Given the description of an element on the screen output the (x, y) to click on. 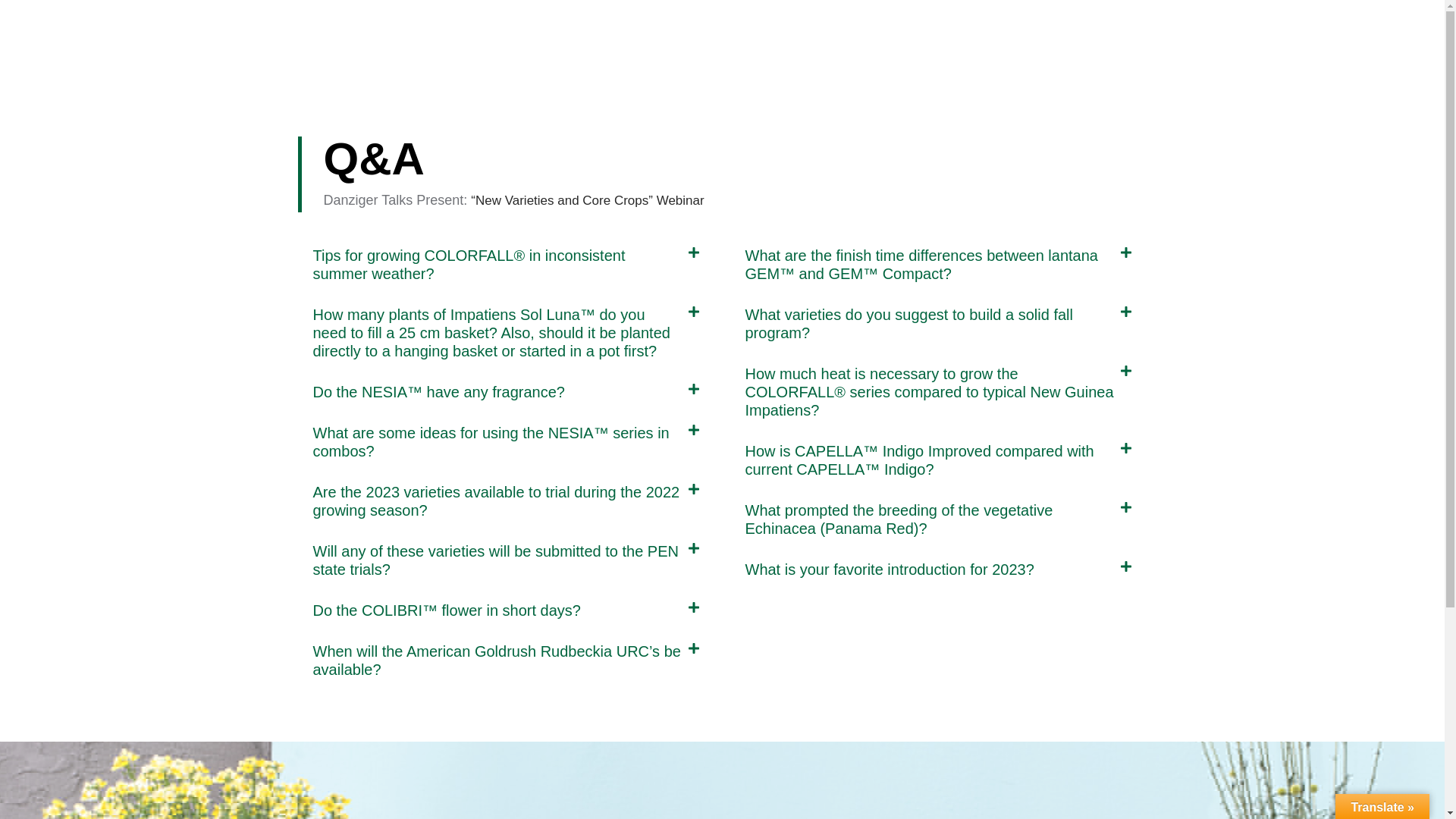
What is your favorite introduction for 2023? (888, 569)
What varieties do you suggest to build a solid fall program? (907, 323)
